Given the description of an element on the screen output the (x, y) to click on. 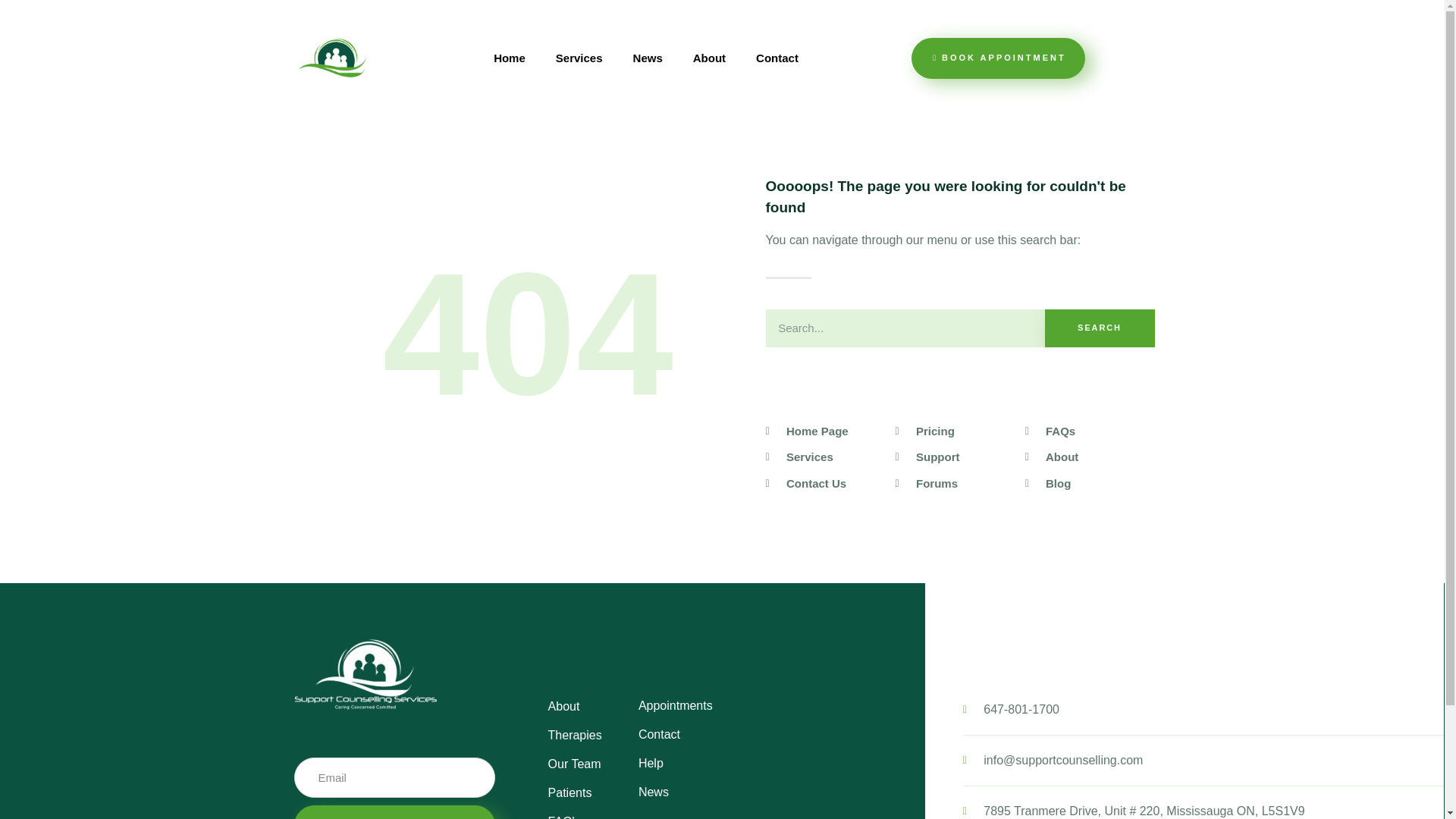
Home (509, 57)
SEND (394, 812)
Search (1099, 328)
Search (905, 328)
SEARCH (1099, 328)
Services (578, 57)
About (709, 57)
Contact (777, 57)
BOOK APPOINTMENT (997, 57)
News (647, 57)
